Given the description of an element on the screen output the (x, y) to click on. 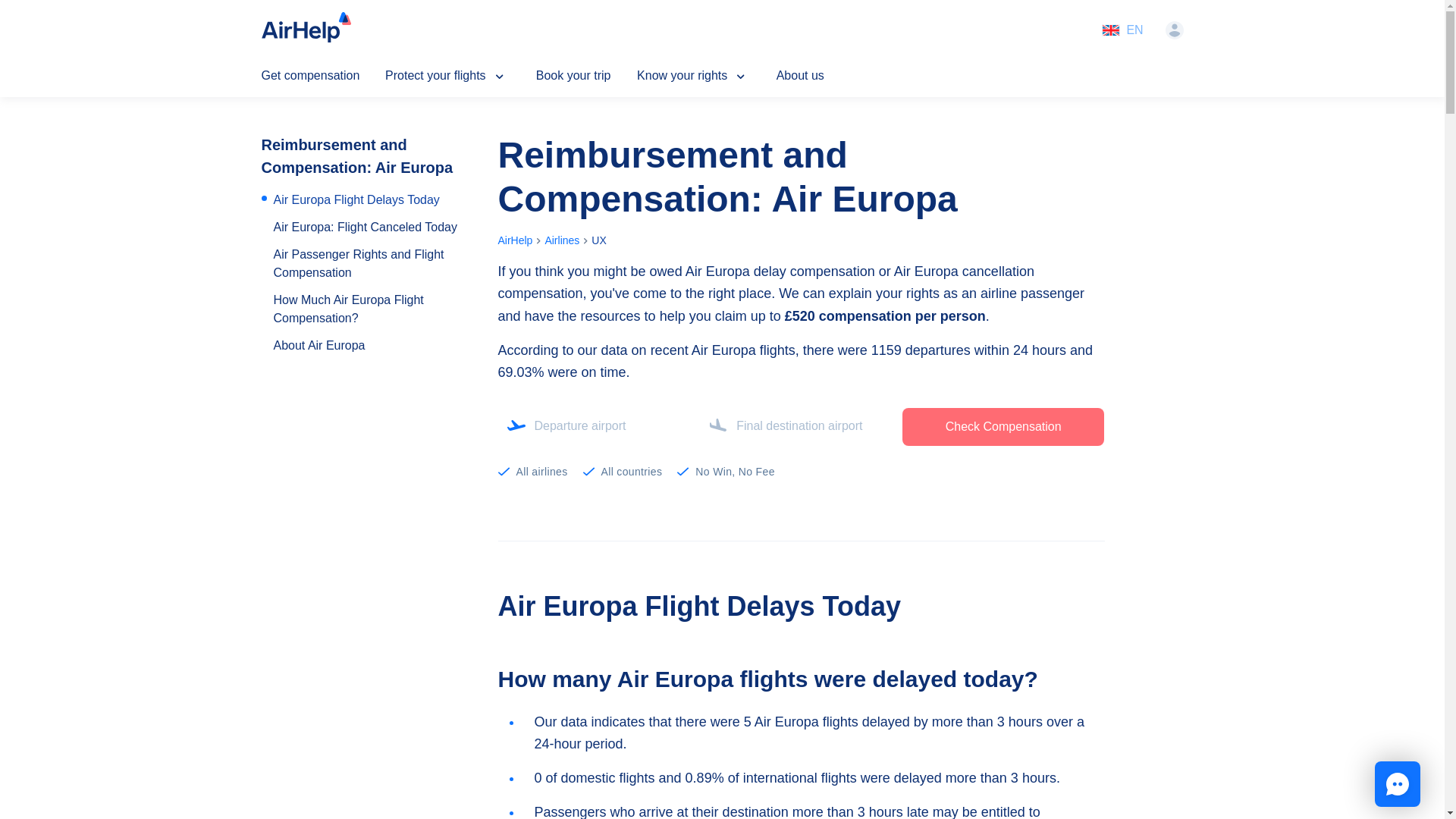
Air Passenger Rights and Flight Compensation (368, 263)
Check Compensation (1003, 426)
Check Compensation (1003, 426)
Get compensation (313, 75)
EN (1122, 30)
Airlines (561, 240)
About us (802, 75)
Air Europa: Flight Canceled Today (365, 227)
Book your trip (576, 75)
Know your rights (697, 75)
How Much Air Europa Flight Compensation? (368, 309)
Airhelp (305, 30)
About Air Europa (319, 345)
Air Europa Flight Delays Today (356, 199)
Protect your flights (451, 75)
